Given the description of an element on the screen output the (x, y) to click on. 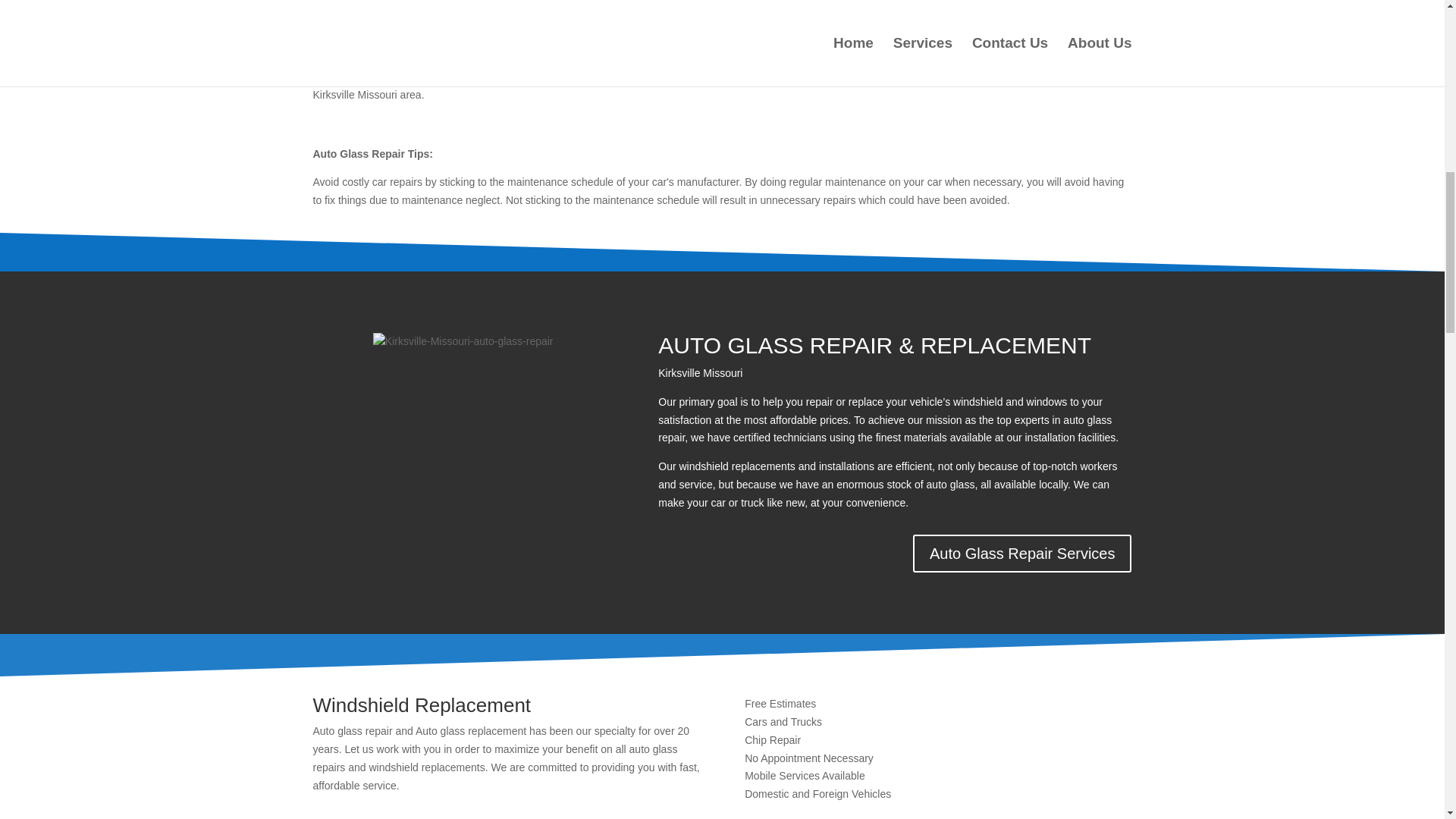
Auto Glass Repair Services (1022, 553)
